Given the description of an element on the screen output the (x, y) to click on. 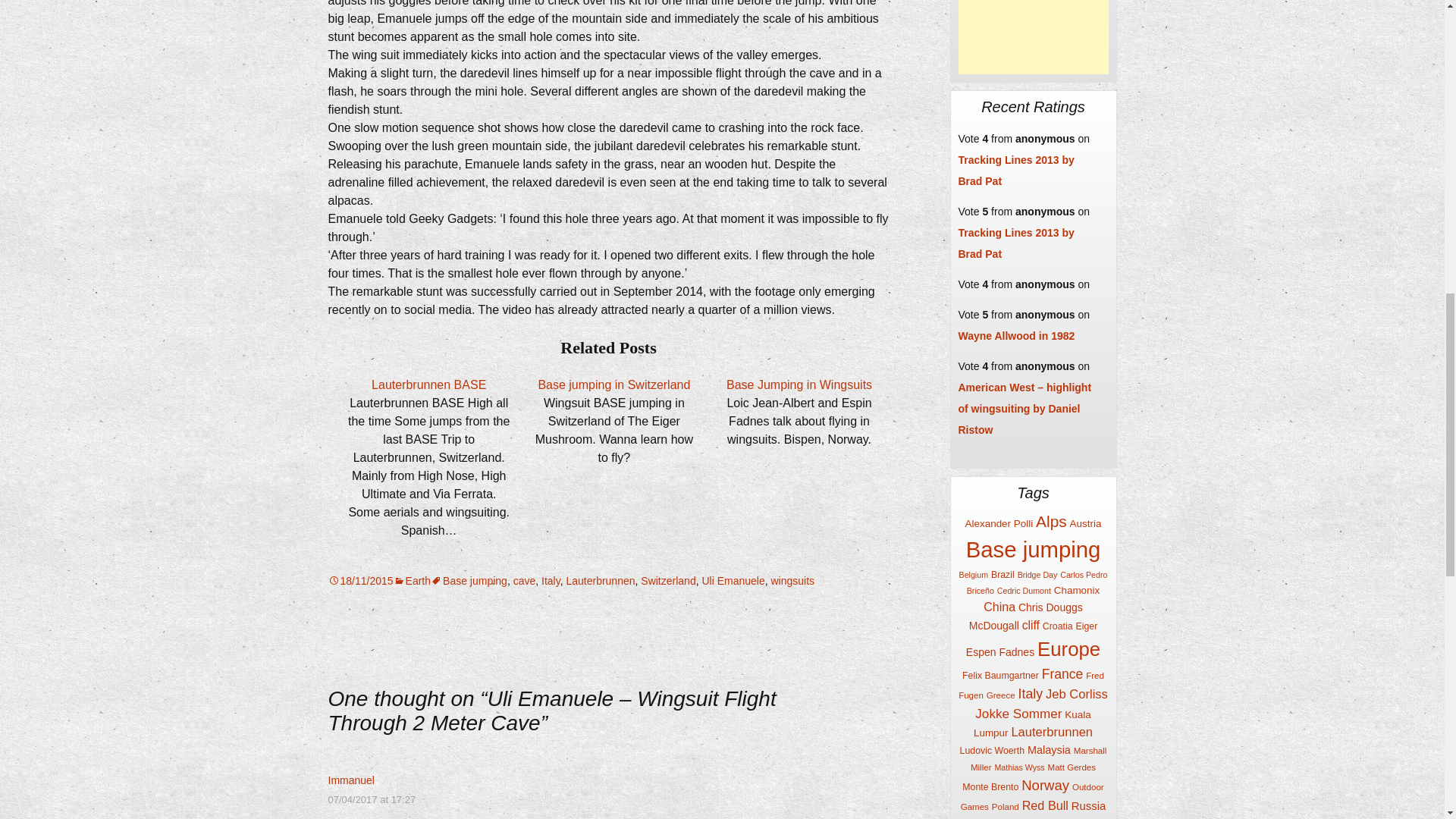
Italy (550, 580)
Tracking Lines 2013 by Brad Pat (1016, 170)
Wayne Allwood in 1982 (1016, 336)
Switzerland (667, 580)
Lauterbrunnen (600, 580)
Base jumping in Switzerland (613, 384)
Lauterbrunnen BASE (428, 384)
wingsuits (791, 580)
Uli Emanuele (732, 580)
Earth (411, 580)
